Given the description of an element on the screen output the (x, y) to click on. 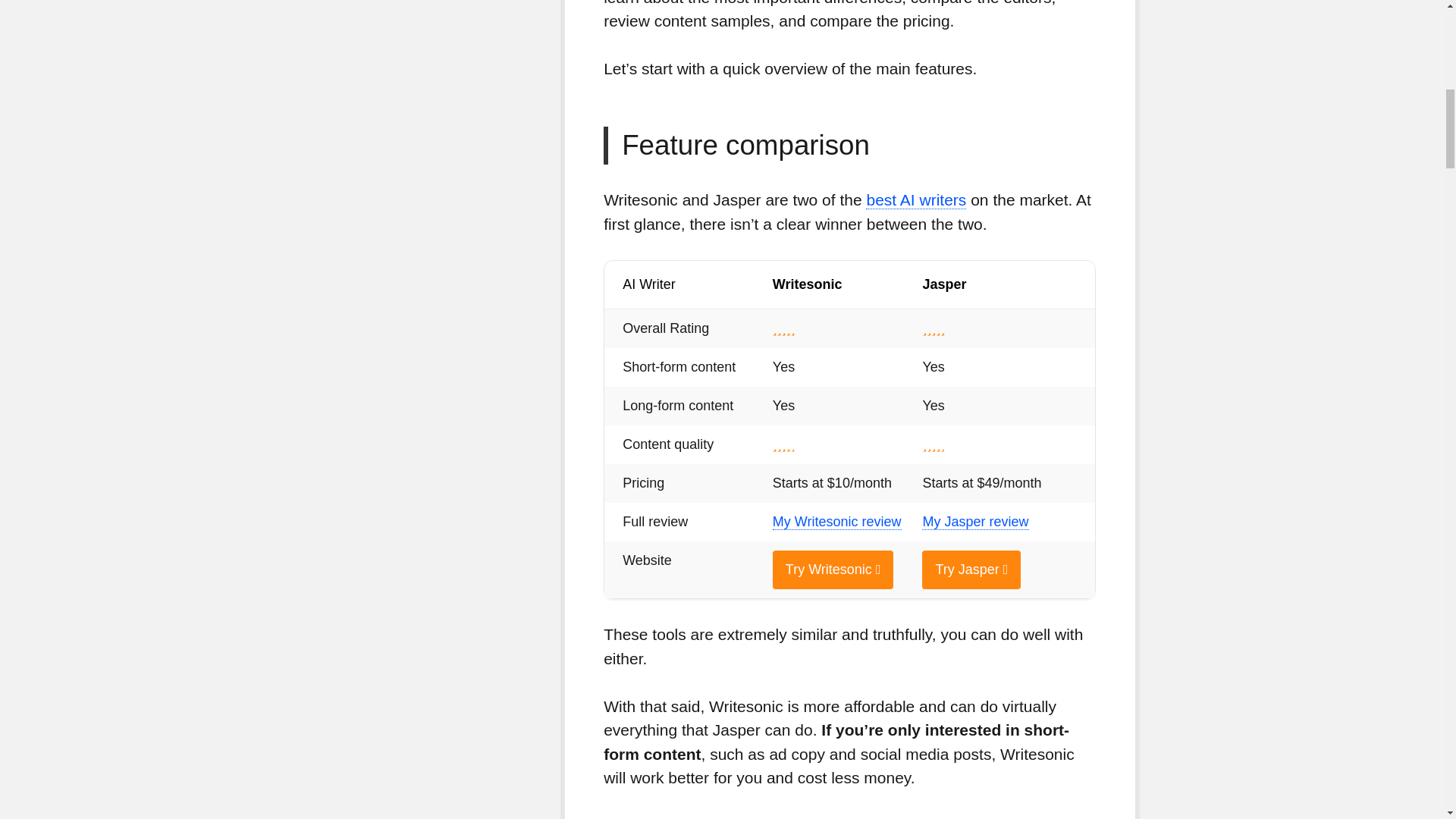
best AI writers (916, 199)
My Writesonic review (837, 521)
My Jasper review (974, 521)
Try Jasper (970, 569)
Try Writesonic (833, 569)
